Given the description of an element on the screen output the (x, y) to click on. 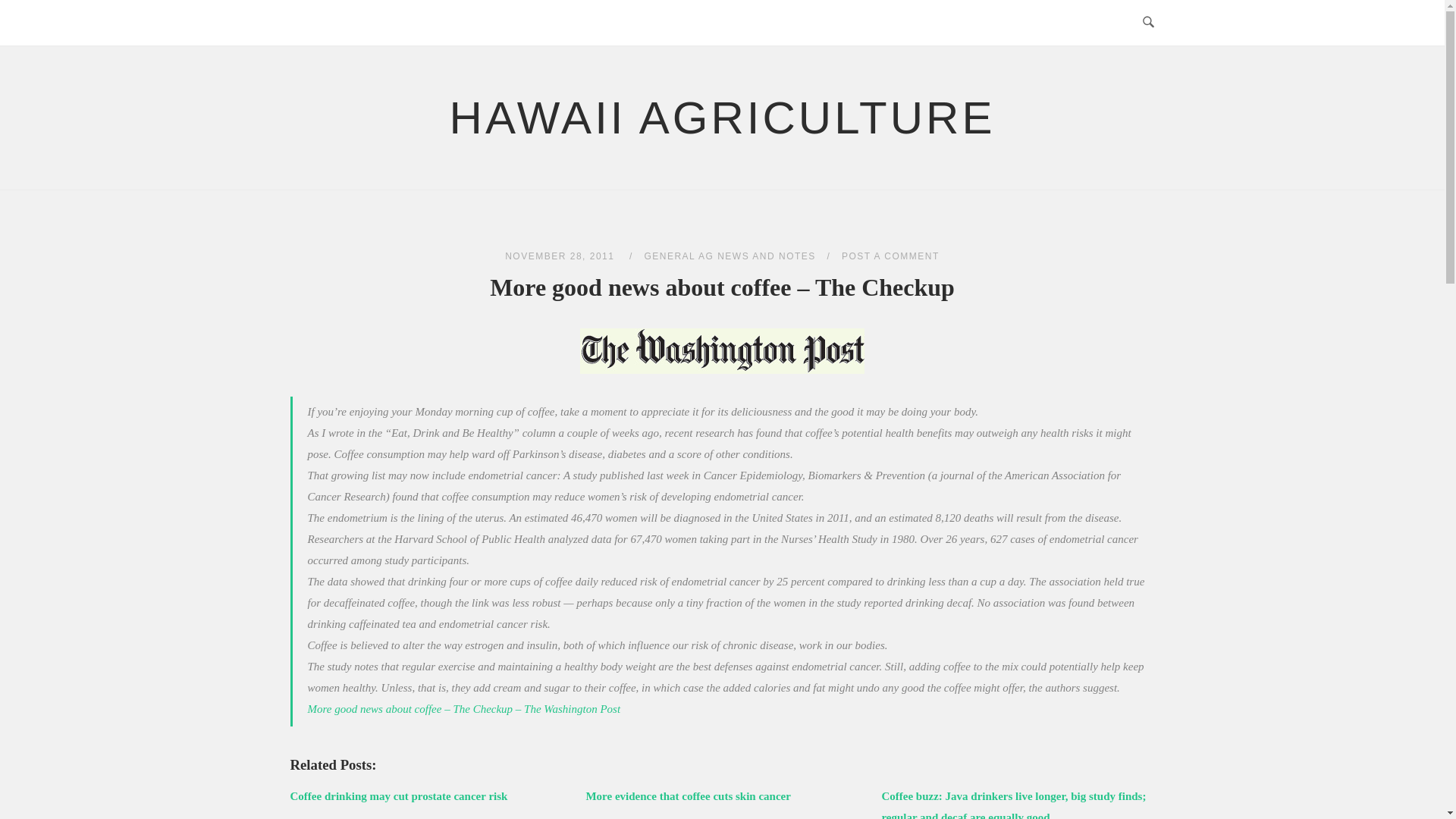
Coffee drinking may cut prostate cancer risk (397, 796)
HAWAII AGRICULTURE (722, 117)
More evidence that coffee cuts skin cancer (687, 796)
GENERAL AG NEWS AND NOTES (729, 255)
POST A COMMENT (890, 255)
More evidence that coffee cuts skin cancer (687, 796)
Coffee drinking may cut prostate cancer risk (397, 796)
